Given the description of an element on the screen output the (x, y) to click on. 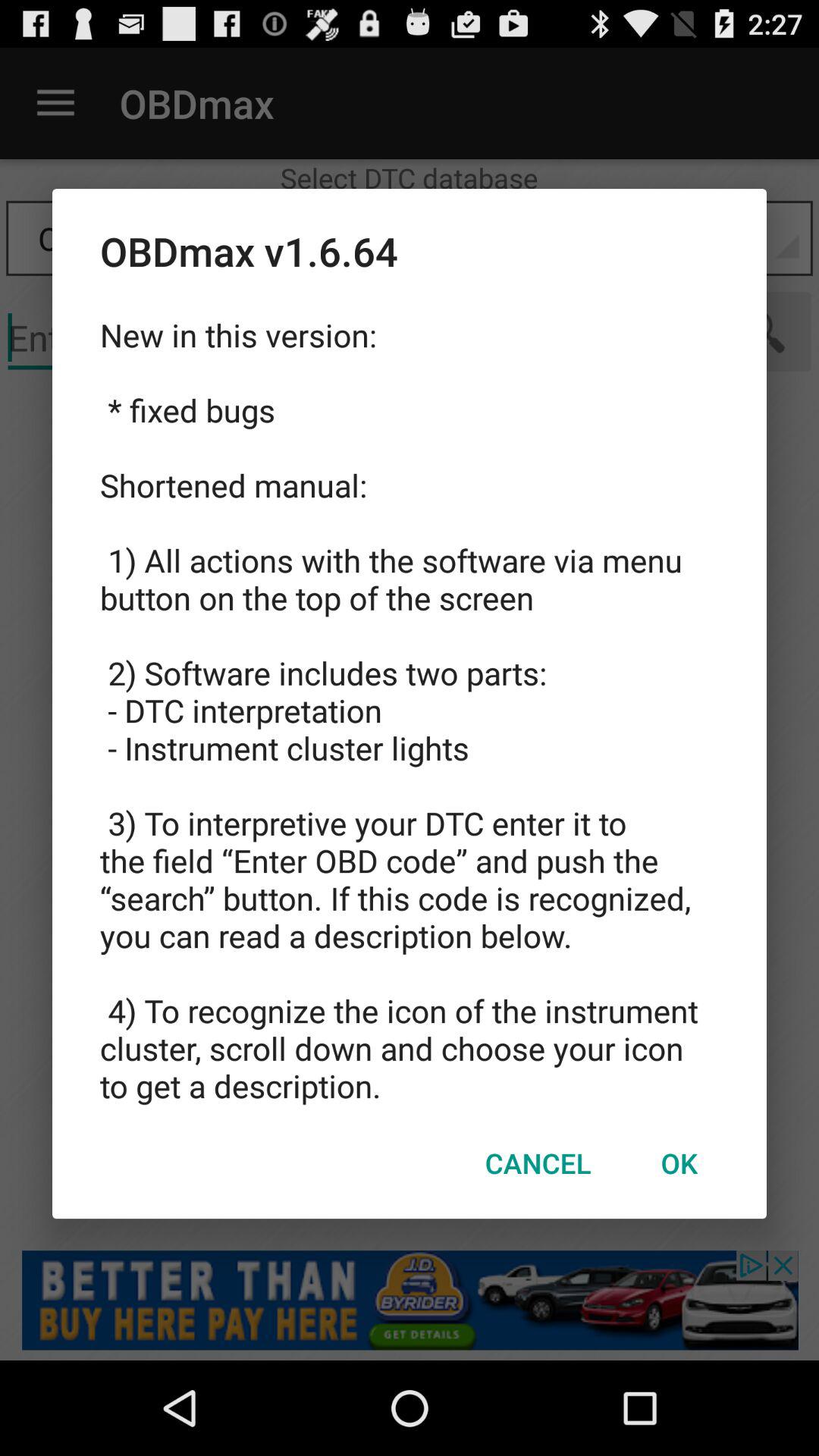
turn off cancel (538, 1162)
